Given the description of an element on the screen output the (x, y) to click on. 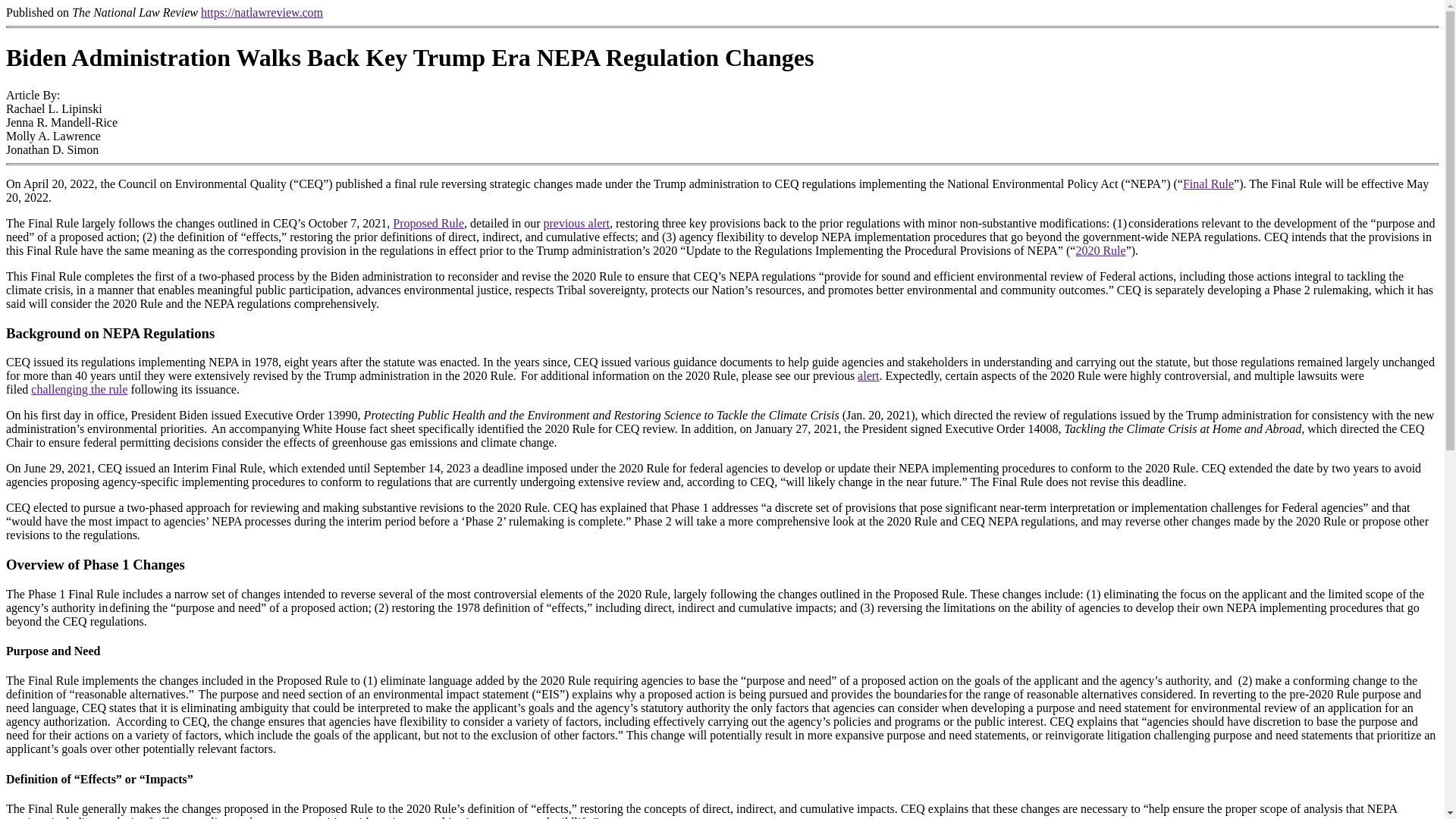
previous alert (576, 223)
2020 Rule (1100, 250)
challenging the rule (79, 389)
Final Rule (1207, 183)
Proposed Rule (428, 223)
alert (868, 375)
